Given the description of an element on the screen output the (x, y) to click on. 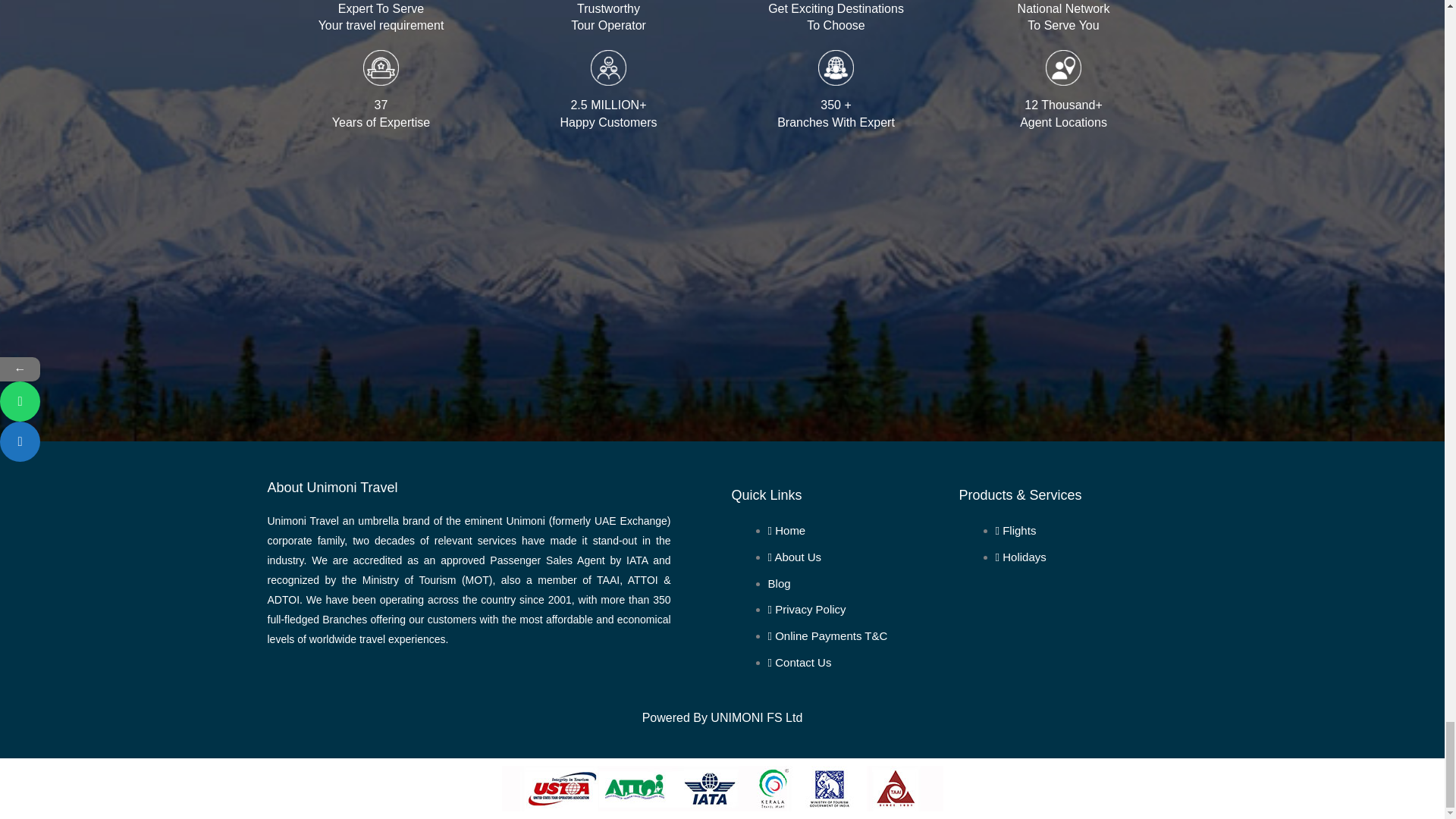
Holidays (1020, 556)
About Us (795, 556)
Privacy Policy (806, 608)
Flights (1015, 530)
Home (787, 530)
Contact Us (799, 662)
Blog (779, 583)
